Given the description of an element on the screen output the (x, y) to click on. 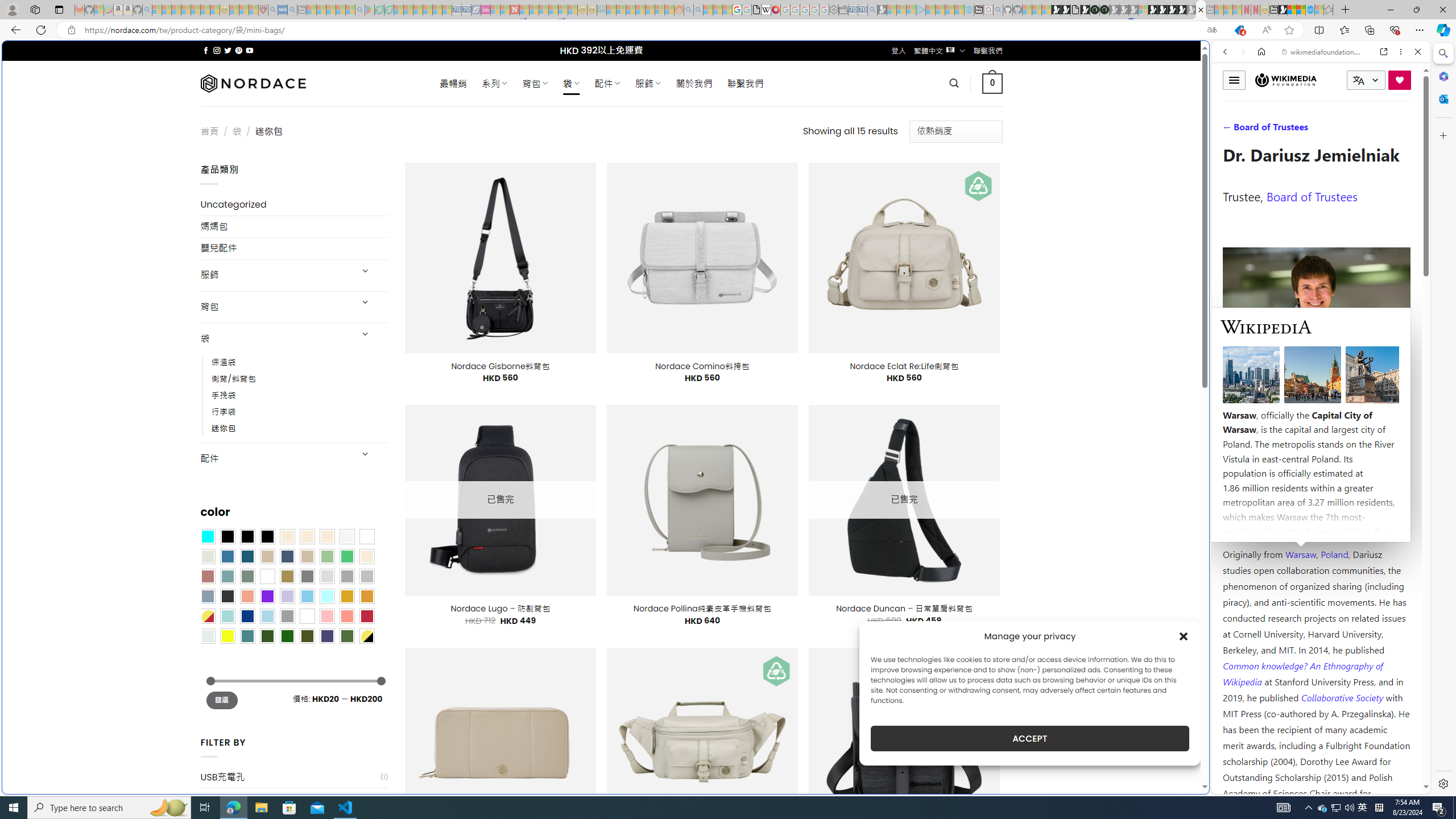
Search Filter, Search Tools (1350, 129)
Earth has six continents not seven, radical new study claims (1300, 9)
Donate now (1399, 80)
Utah sues federal government - Search - Sleeping (697, 9)
New Report Confirms 2023 Was Record Hot | Watch - Sleeping (195, 9)
